Given the description of an element on the screen output the (x, y) to click on. 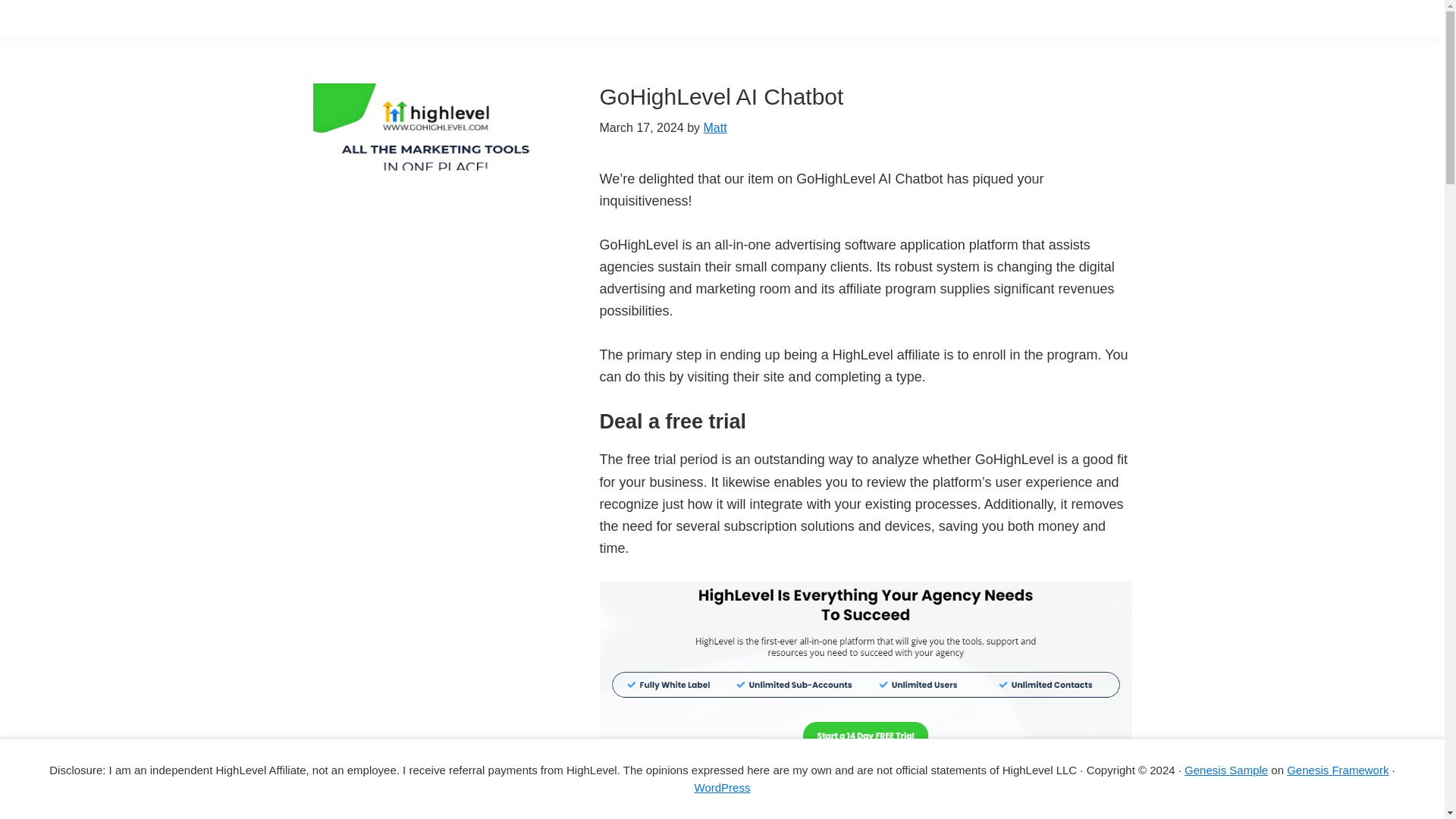
Matt (714, 127)
WordPress (722, 787)
Genesis Framework (1338, 769)
Genesis Sample (1226, 769)
